Given the description of an element on the screen output the (x, y) to click on. 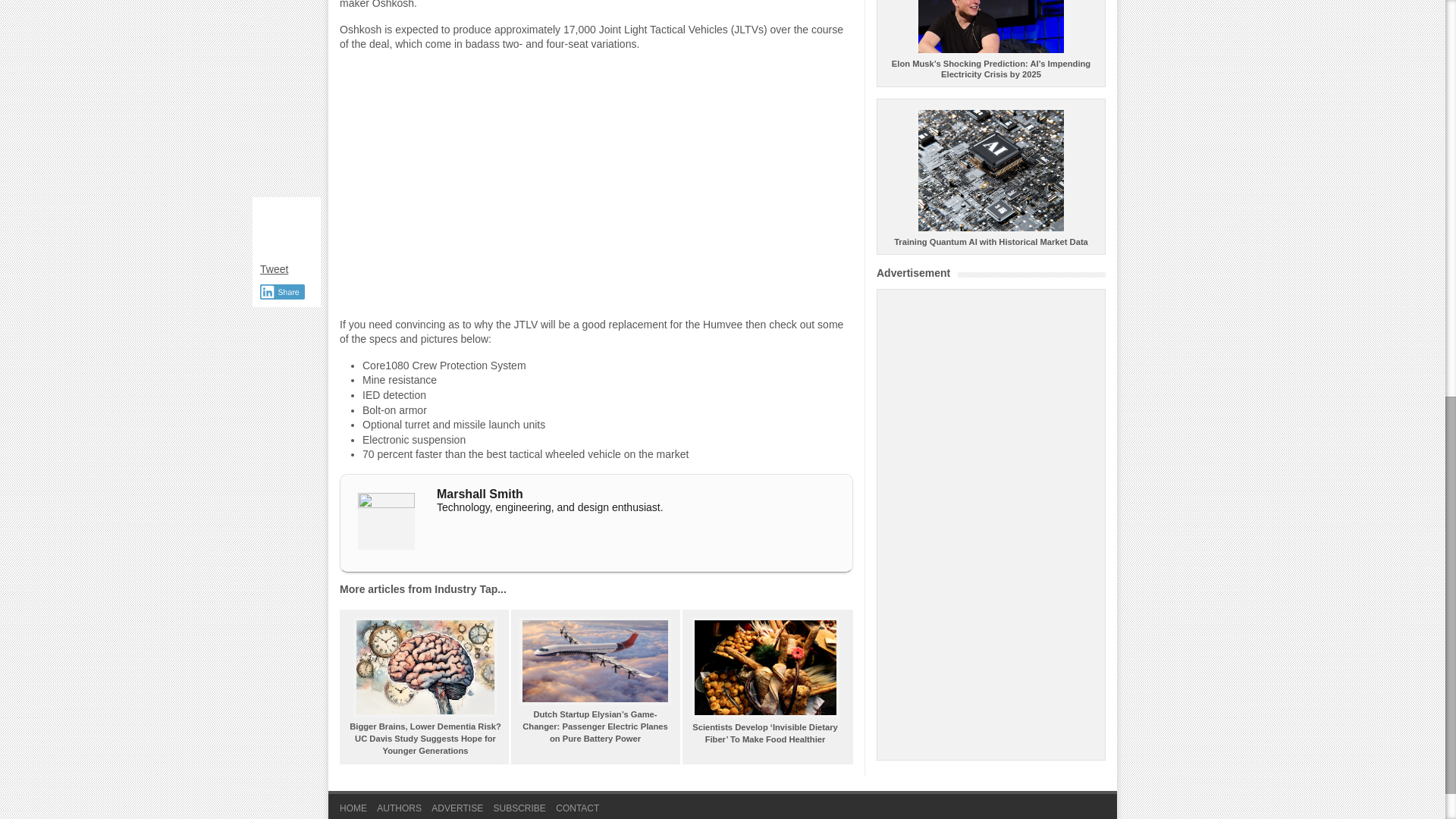
Training Quantum AI with Historical Market Data (990, 236)
ADVERTISE (456, 810)
HOME (352, 810)
SUBSCRIBE (519, 810)
Training Quantum AI with Historical Market Data (990, 236)
CONTACT (577, 810)
AUTHORS (399, 810)
